Given the description of an element on the screen output the (x, y) to click on. 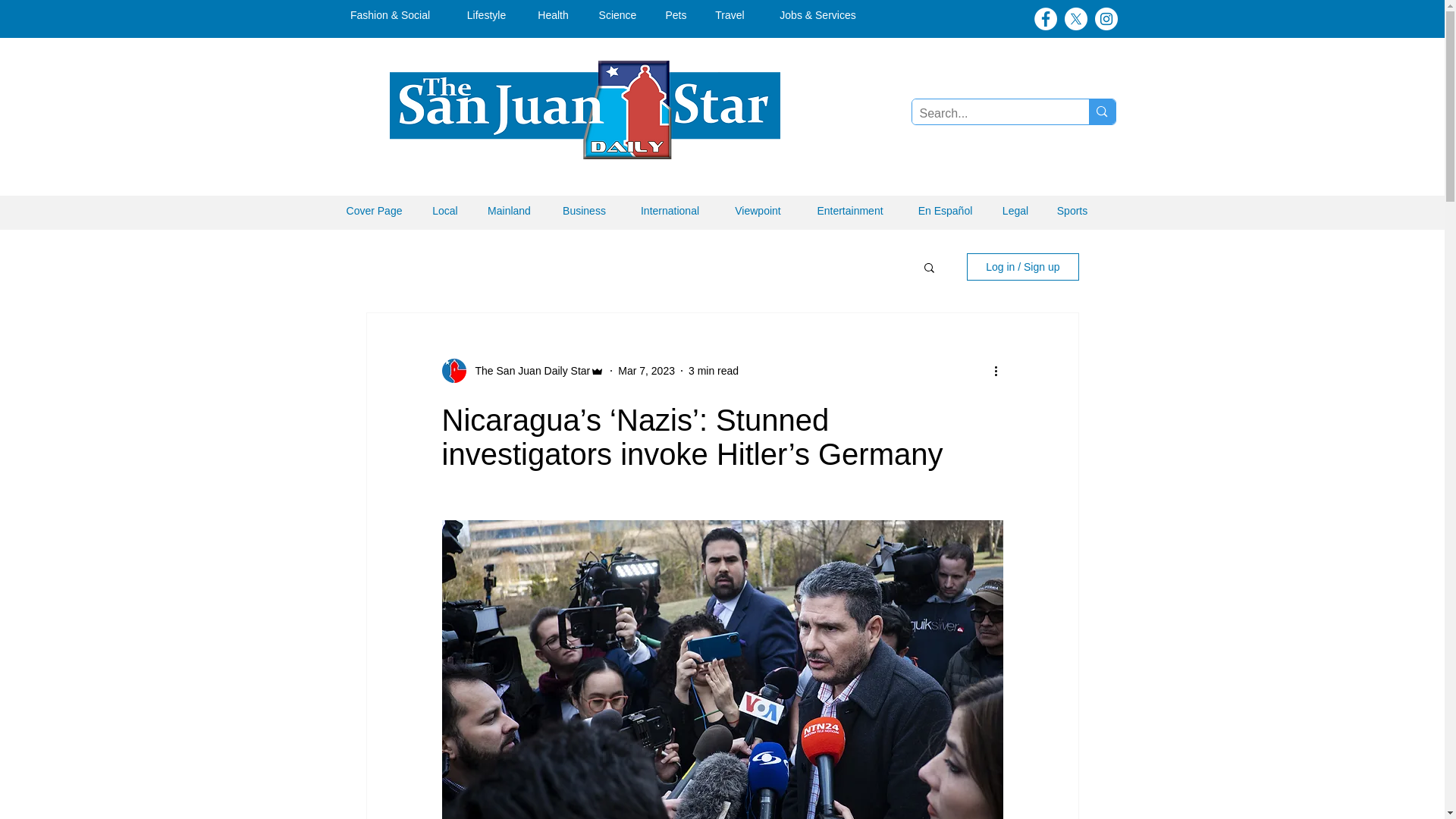
Science (617, 15)
International (669, 210)
Cover Page (374, 210)
The San Juan Daily Star (527, 370)
Mar 7, 2023 (646, 369)
Viewpoint (757, 210)
Sports (1072, 210)
Local (445, 210)
Business (583, 210)
Entertainment (849, 210)
